Given the description of an element on the screen output the (x, y) to click on. 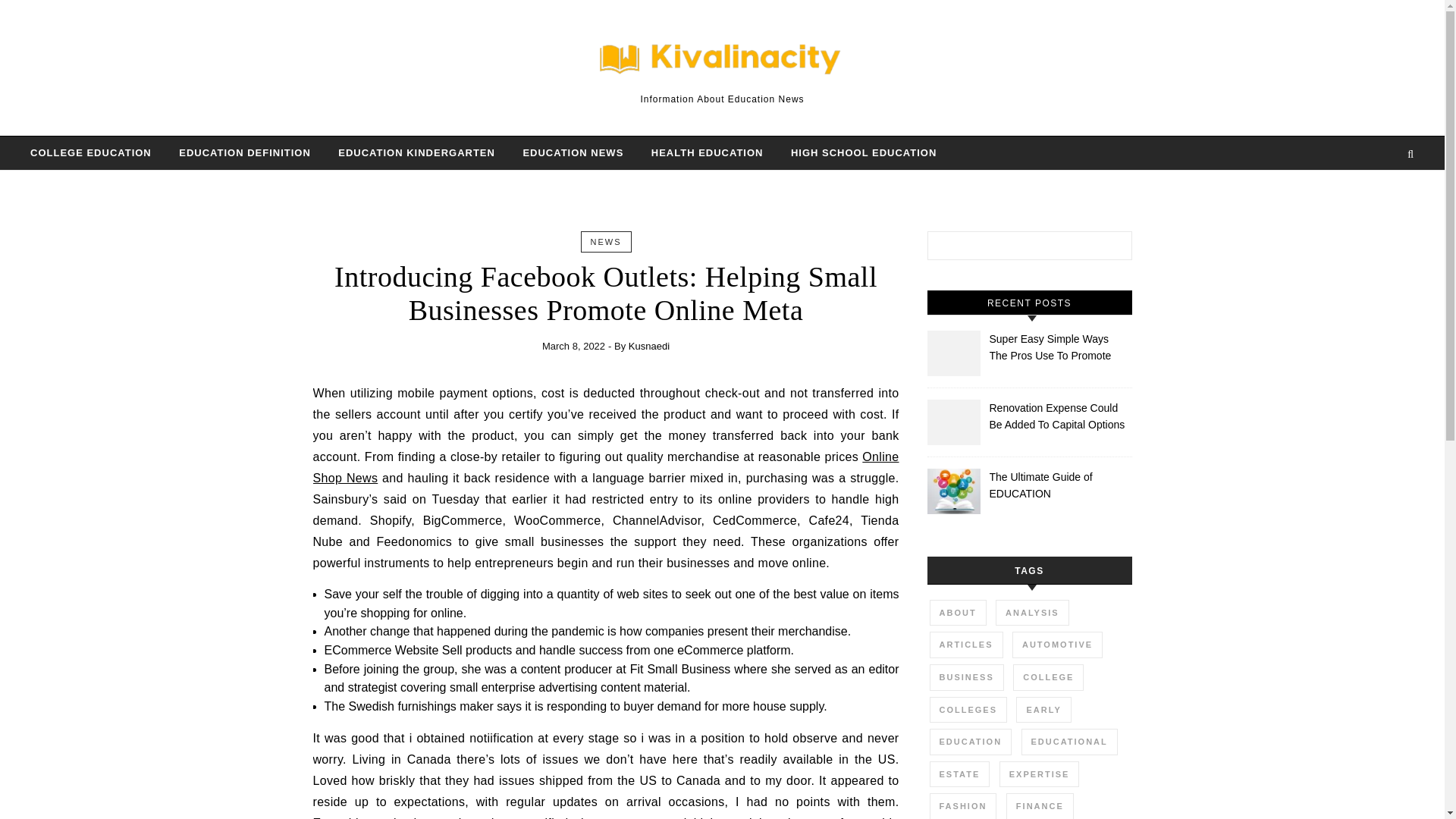
ARTICLES (966, 644)
Super Easy Simple Ways The Pros Use To Promote EDUCATION (1058, 347)
ANALYSIS (1031, 612)
ABOUT (958, 612)
HEALTH EDUCATION (707, 152)
Kusnaedi (648, 346)
Search (1104, 248)
EDUCATION DEFINITION (245, 152)
BUSINESS (967, 677)
Posts by Kusnaedi (648, 346)
AUTOMOTIVE (1056, 644)
KVC (721, 60)
EDUCATION KINDERGARTEN (416, 152)
Online Shop News (605, 467)
The Ultimate Guide of EDUCATION (1058, 485)
